Given the description of an element on the screen output the (x, y) to click on. 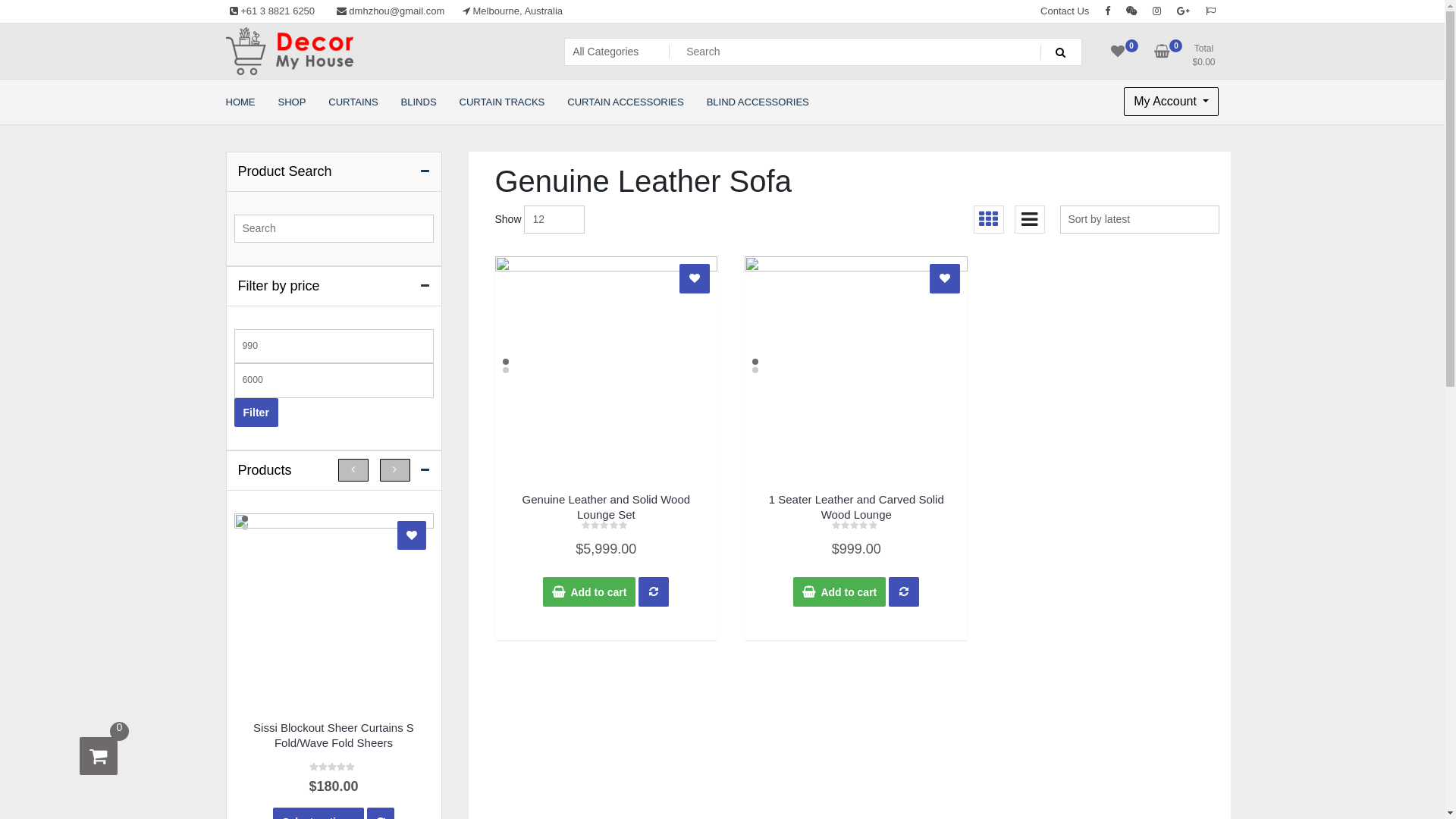
CURTAINS Element type: text (352, 102)
CURTAIN ACCESSORIES Element type: text (624, 102)
BLIND ACCESSORIES Element type: text (757, 102)
Genuine Leather and Solid Wood Lounge Set
$5,999.00 Element type: text (605, 522)
HOME Element type: text (239, 102)
+61 3 8821 6250 Element type: text (272, 11)
Add to cart Element type: text (588, 591)
Add to cart Element type: text (839, 591)
CURTAIN TRACKS Element type: text (502, 102)
BLINDS Element type: text (418, 102)
Search for: Element type: hover (822, 50)
dmhzhou@gmail.com Element type: text (390, 11)
SHOP Element type: text (291, 102)
Decor My House Element type: text (314, 90)
My Account Element type: text (1170, 101)
0
Total
$0.00 Element type: text (1188, 55)
1 Seater Leather and Carved Solid Wood Lounge
$999.00 Element type: text (856, 522)
Search for: Element type: hover (333, 228)
Filter Element type: text (255, 412)
Contact Us Element type: text (1064, 11)
0 Element type: text (1117, 55)
0 Element type: text (98, 756)
